Given the description of an element on the screen output the (x, y) to click on. 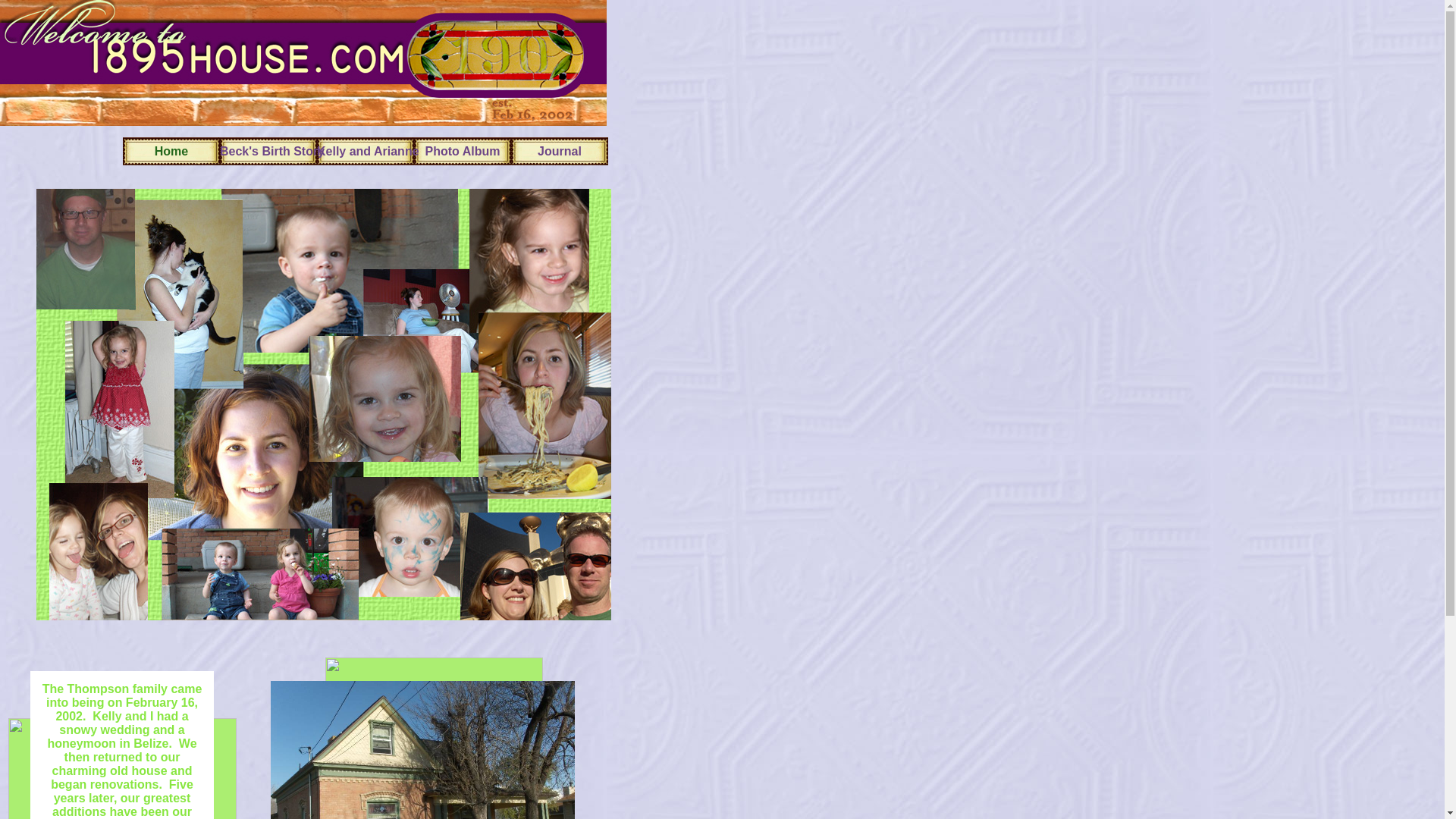
Beck's Birth Story Element type: text (267, 151)
Home Element type: text (170, 151)
Journal Element type: text (559, 151)
Photo Album Element type: text (462, 151)
Kelly and Arianne Element type: text (365, 151)
